Given the description of an element on the screen output the (x, y) to click on. 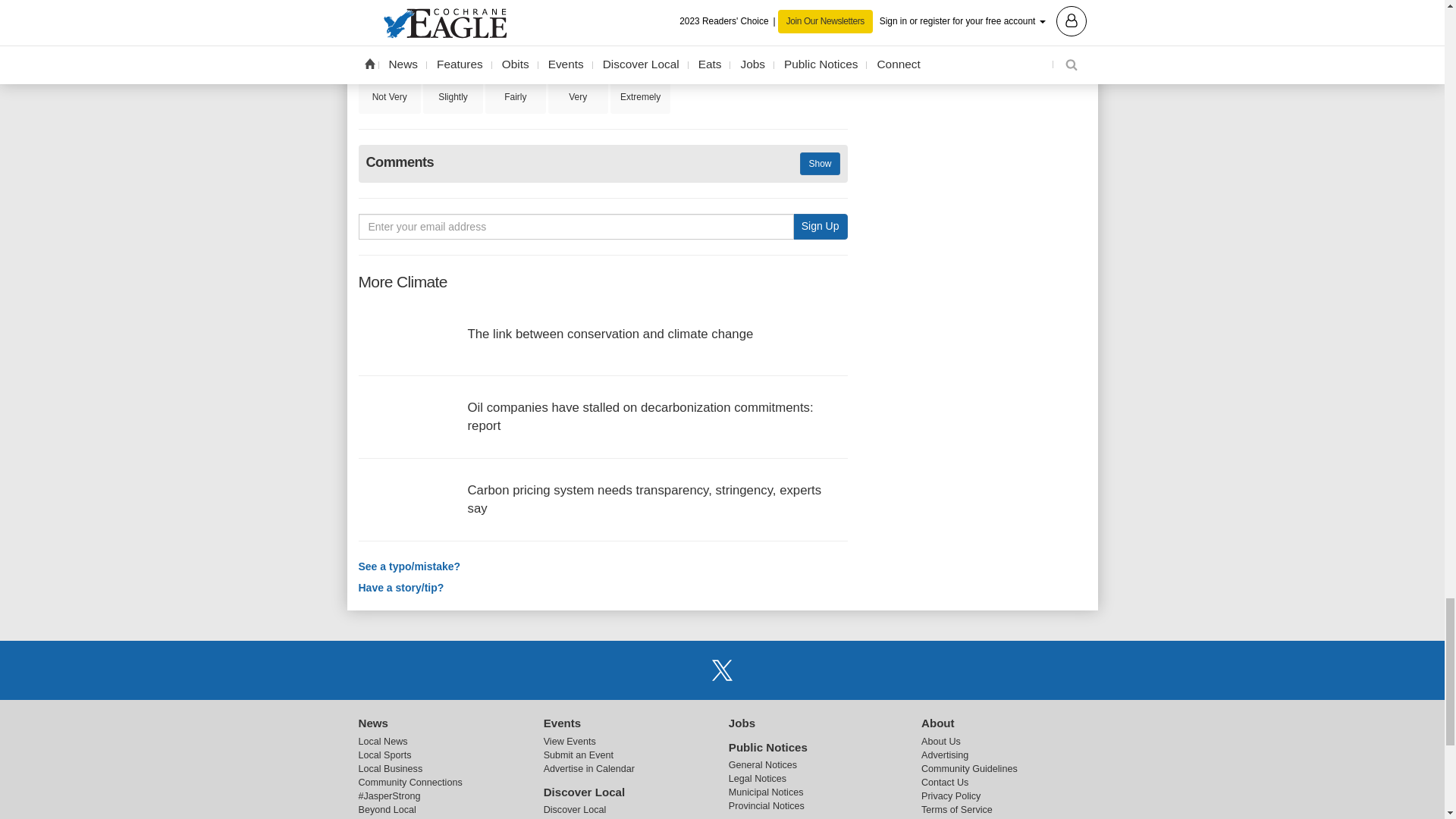
X (721, 669)
Facebook (683, 669)
Instagram (760, 669)
